Given the description of an element on the screen output the (x, y) to click on. 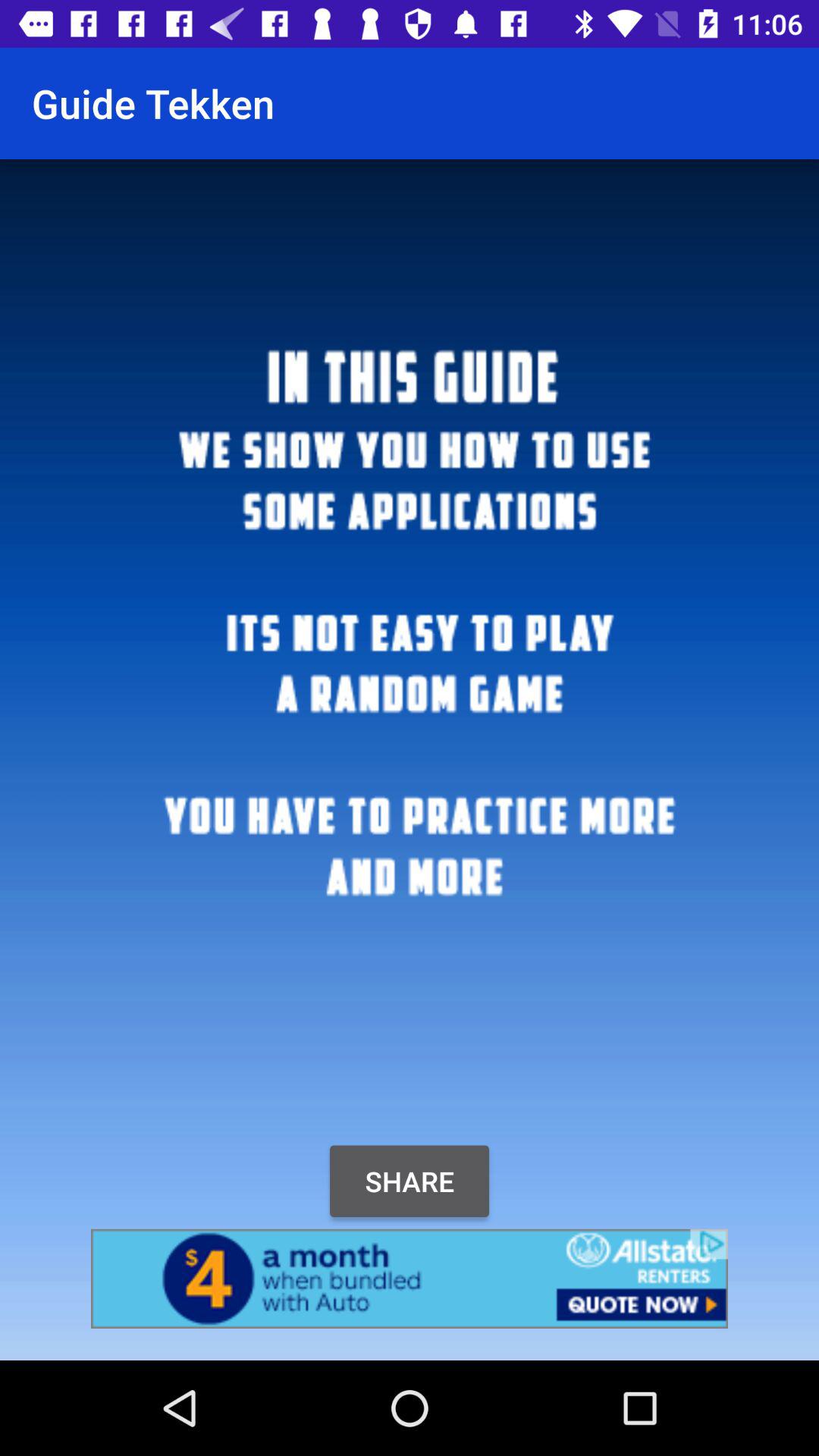
add the option (409, 1278)
